Given the description of an element on the screen output the (x, y) to click on. 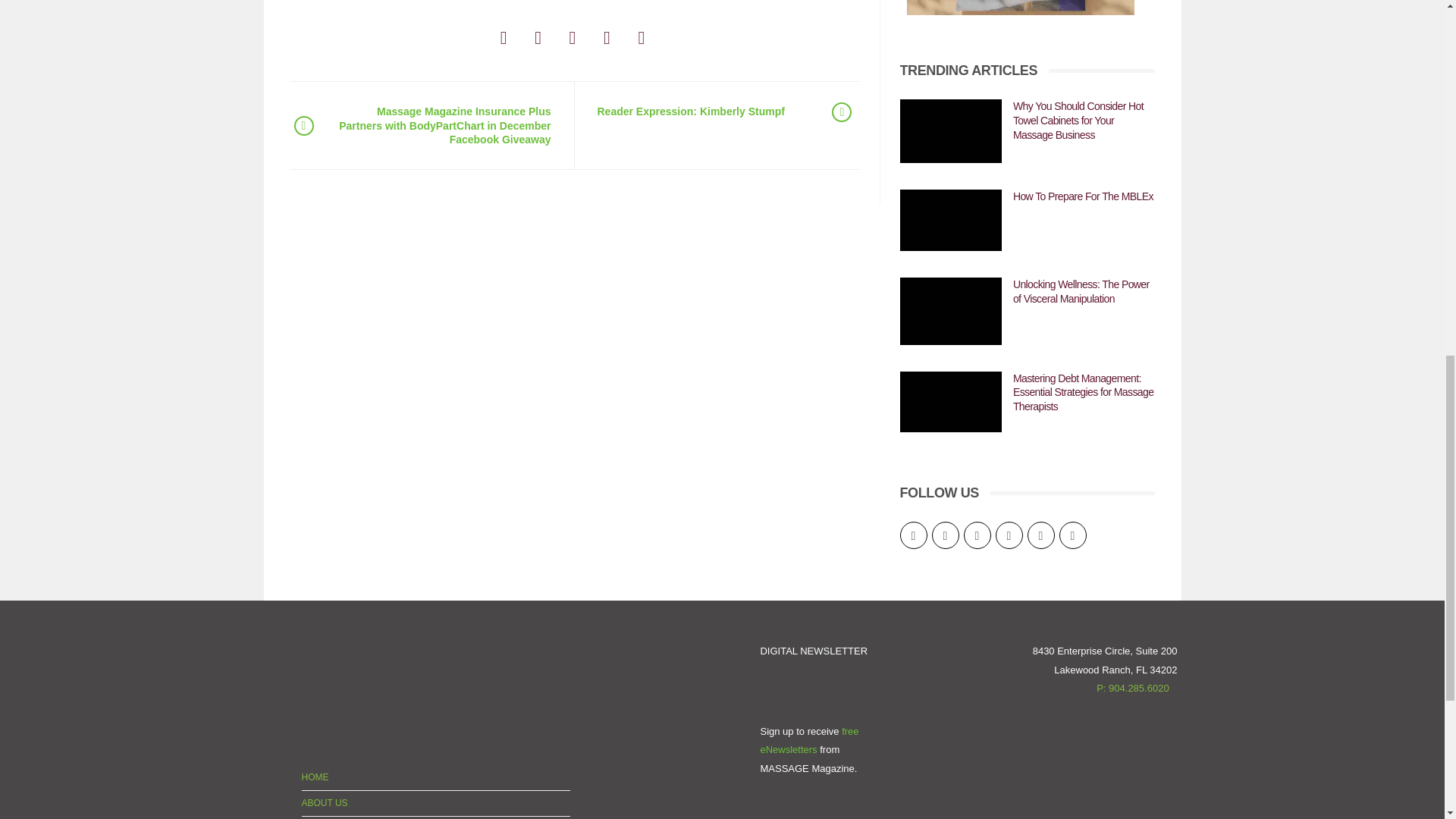
How To Prepare For The MBLEx (950, 219)
MASSAGE Magazine (327, 687)
Unlocking Wellness: The Power of Visceral Manipulation (950, 310)
